Given the description of an element on the screen output the (x, y) to click on. 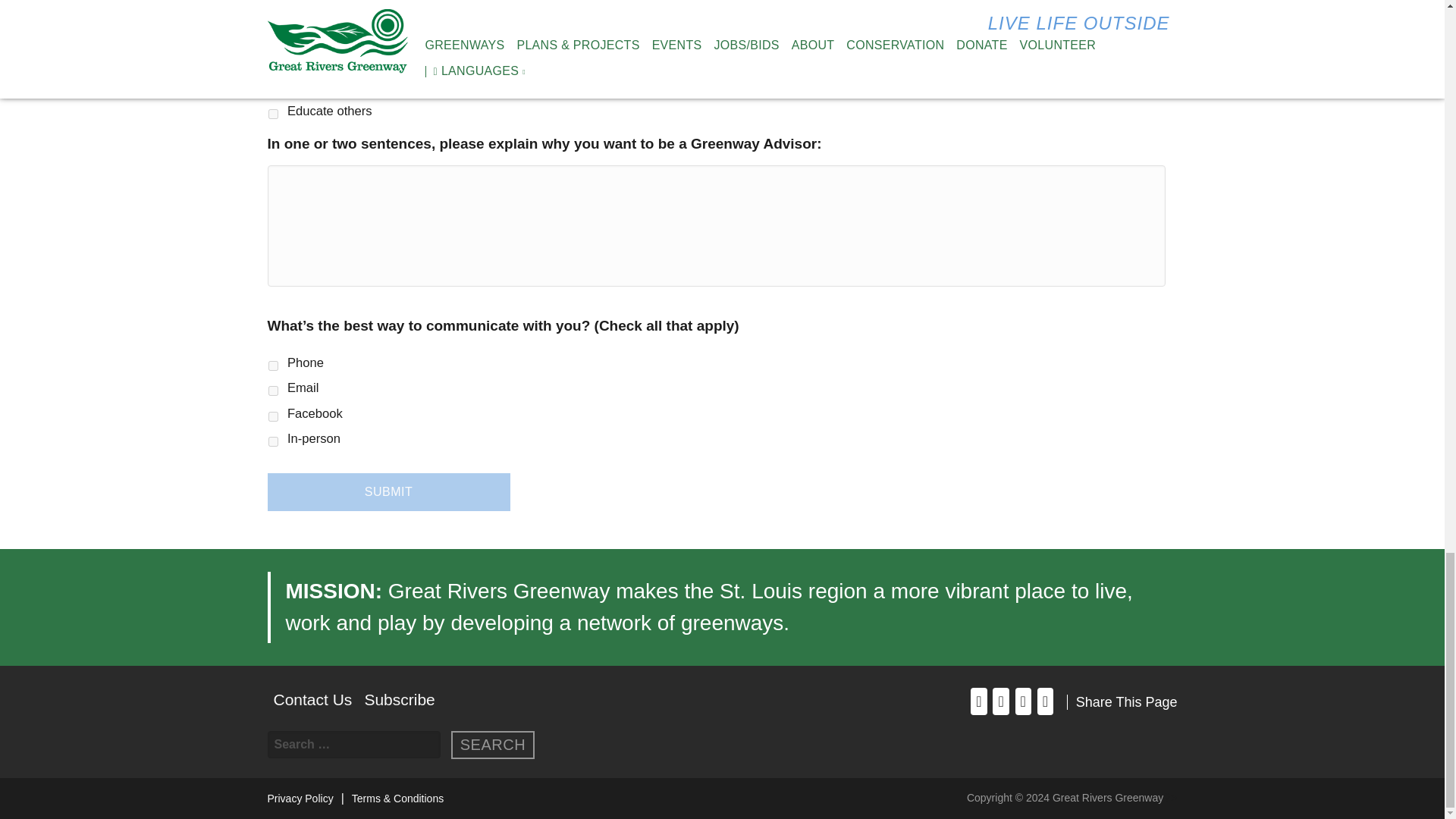
Submit (387, 492)
Contact Us (312, 699)
Facebook (272, 416)
Enjoy nature (272, 12)
Search (492, 745)
Transportation (272, 38)
Subscribe (398, 699)
In-person (272, 441)
Phone (272, 366)
Search (492, 745)
Email (272, 390)
Practice environmental stewardship (272, 88)
Educate others (272, 113)
Access to water (272, 62)
Submit (387, 492)
